Given the description of an element on the screen output the (x, y) to click on. 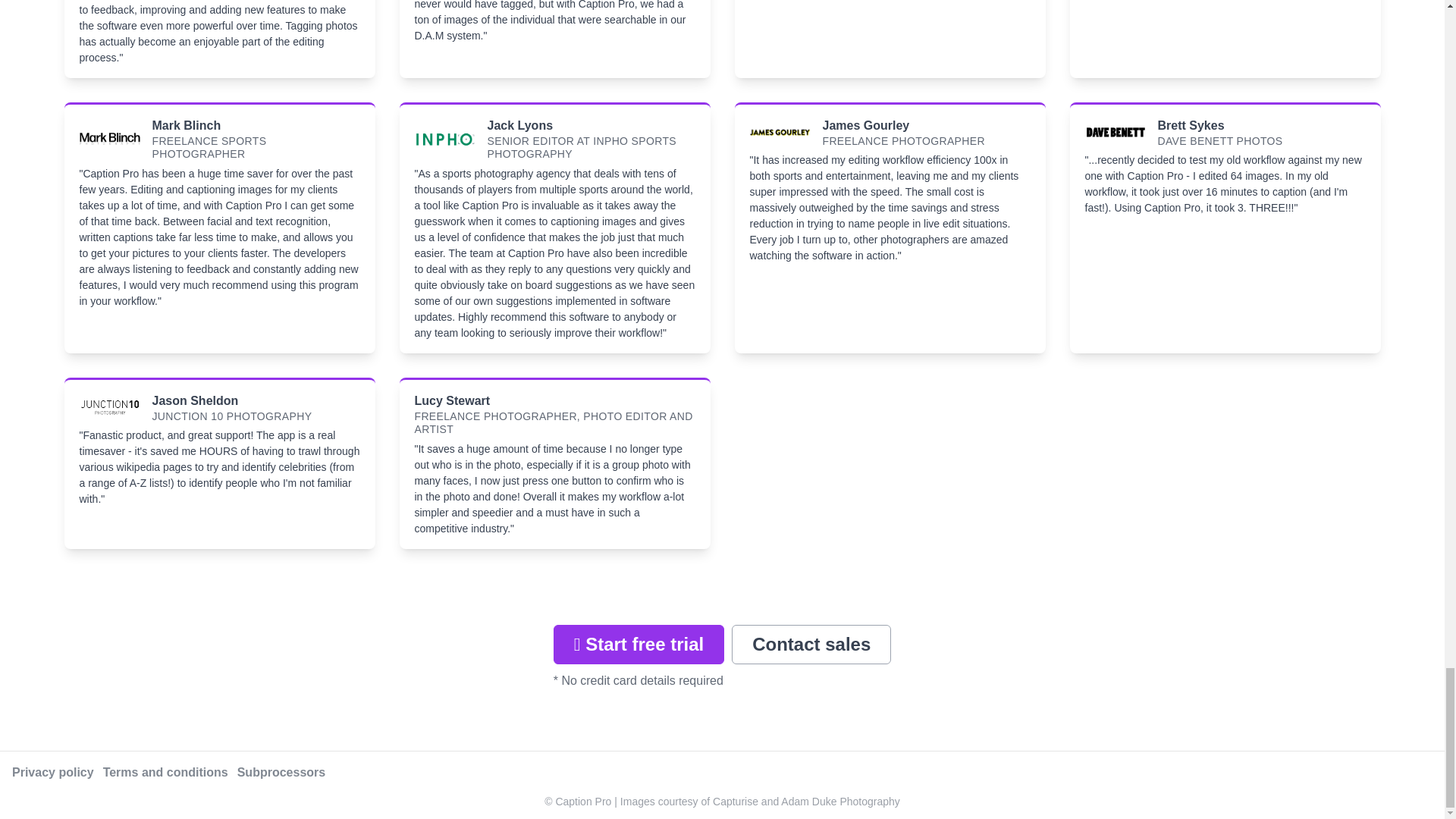
Contact sales (811, 644)
Privacy policy (52, 772)
Adam Duke Photography (839, 801)
Terms and conditions (165, 772)
Start free trial (639, 644)
Subprocessors (280, 772)
Capturise (735, 801)
